Given the description of an element on the screen output the (x, y) to click on. 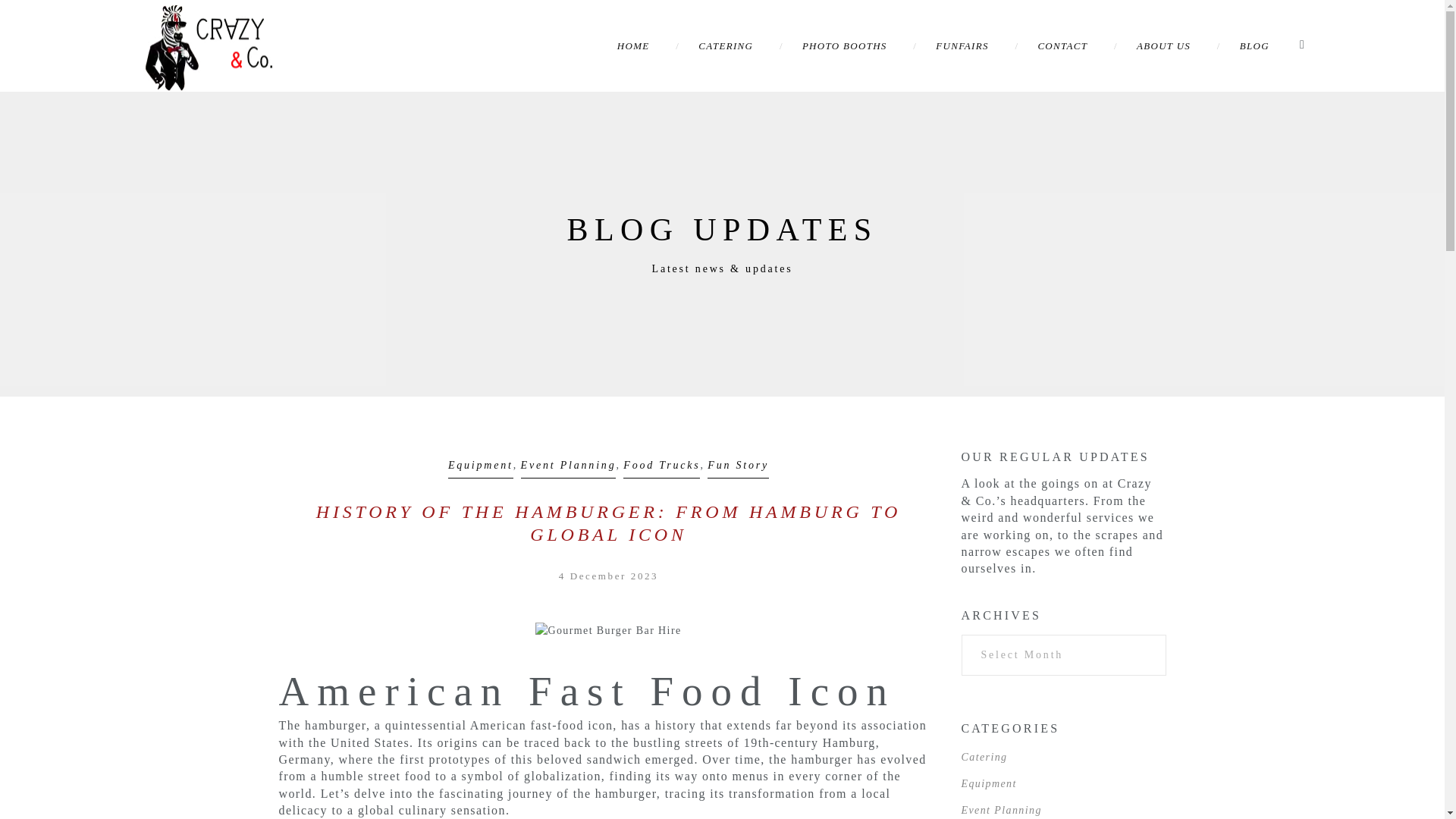
Fun Story (737, 463)
CONTACT (1061, 45)
ABOUT US (1164, 45)
CATERING (725, 45)
BLOG (1254, 45)
HOME (633, 45)
FUNFAIRS (962, 45)
HISTORY OF THE HAMBURGER: FROM HAMBURG TO GLOBAL ICON (608, 523)
Event Planning (568, 463)
PHOTO BOOTHS (844, 45)
Food Trucks (661, 463)
Search (46, 15)
Equipment (480, 463)
